Given the description of an element on the screen output the (x, y) to click on. 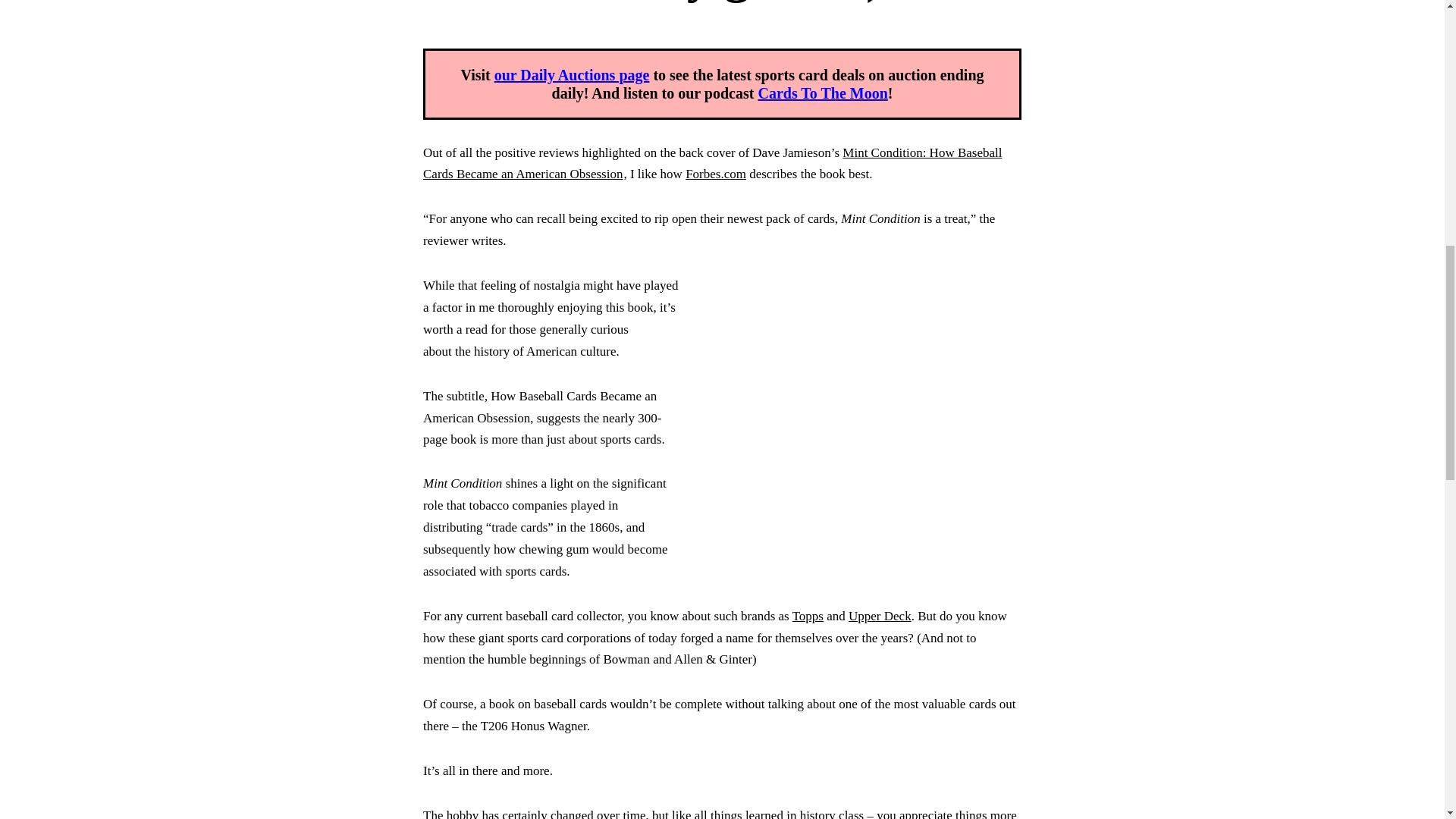
Cards To The Moon (821, 93)
our Daily Auctions page (572, 74)
Forbes.com (715, 173)
Upper Deck (879, 616)
Topps (808, 616)
